Given the description of an element on the screen output the (x, y) to click on. 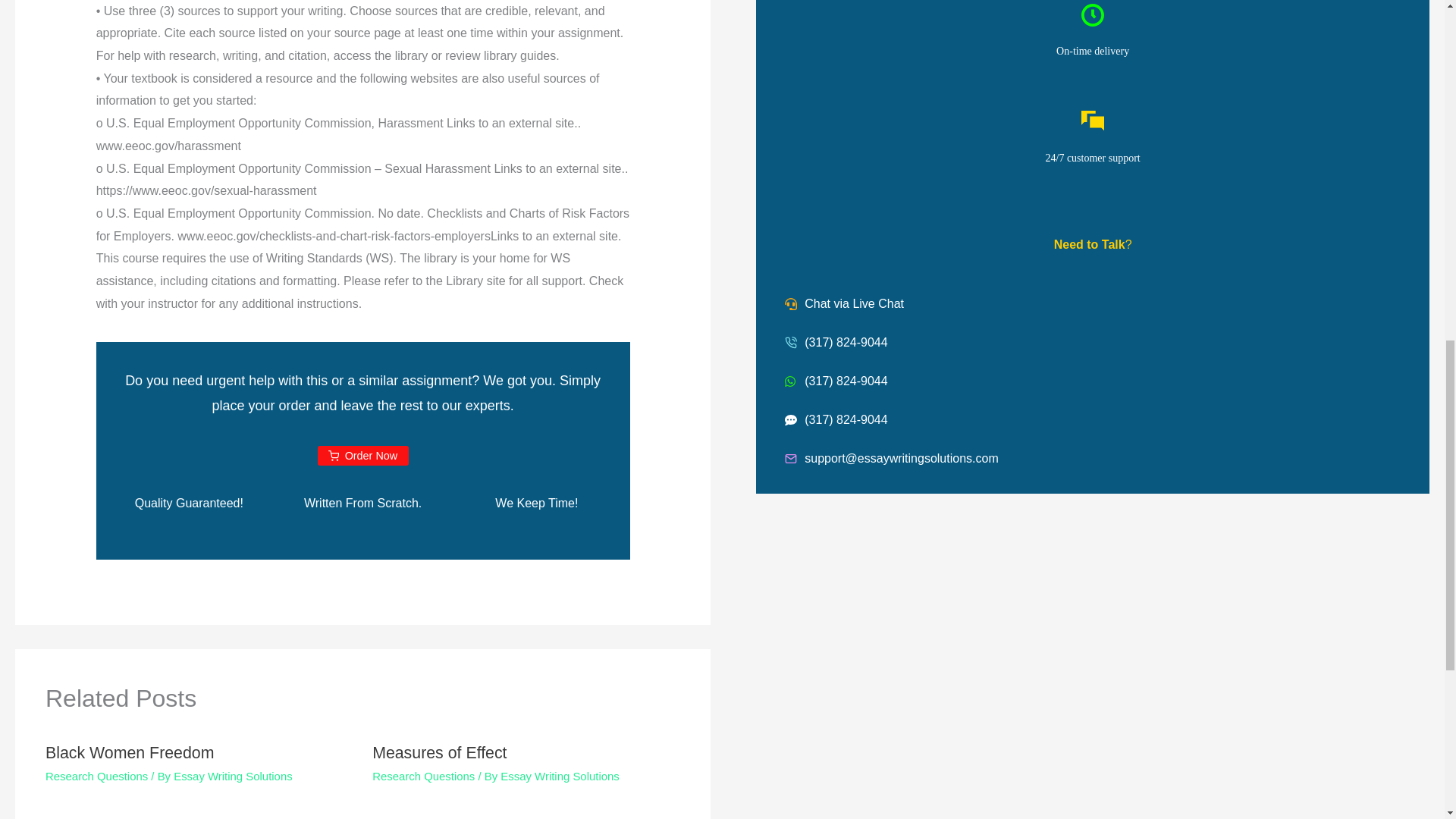
View all posts by Essay Writing Solutions (232, 775)
View all posts by Essay Writing Solutions (559, 775)
